Given the description of an element on the screen output the (x, y) to click on. 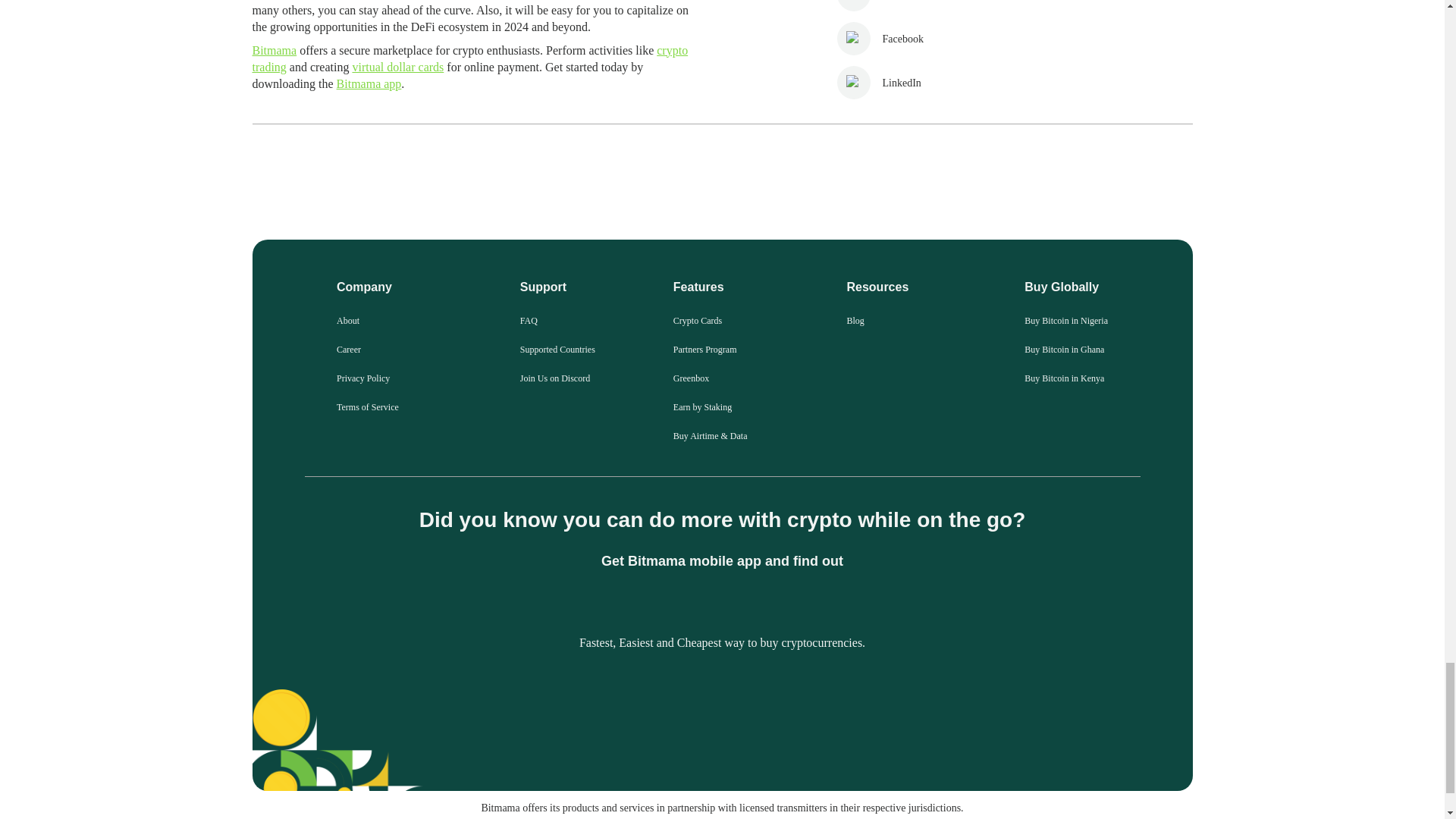
Privacy Policy (363, 378)
virtual dollar cards (398, 66)
Terms of Service (367, 407)
Greenbox (690, 378)
Career (348, 348)
FAQ (528, 320)
Bitmama (274, 50)
Partners Program (704, 348)
Crypto Cards (697, 320)
Bitmama app (368, 83)
About (347, 320)
Earn by Staking (702, 407)
Buy Bitcoin in Ghana (1064, 348)
crypto trading (469, 58)
Supported Countries (557, 348)
